Given the description of an element on the screen output the (x, y) to click on. 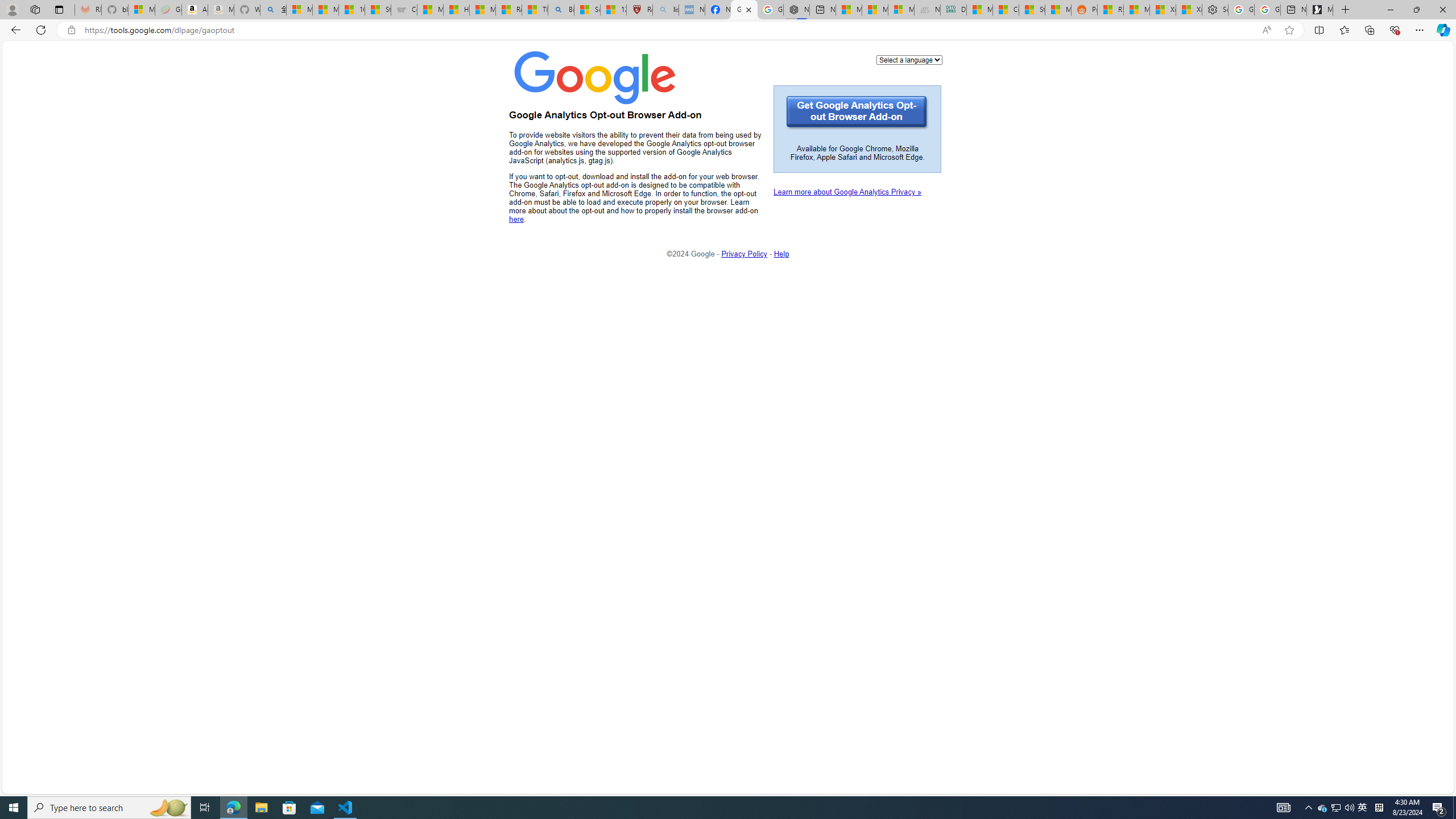
Google Analytics Opt-out Browser Add-on Download Page (743, 9)
